Given the description of an element on the screen output the (x, y) to click on. 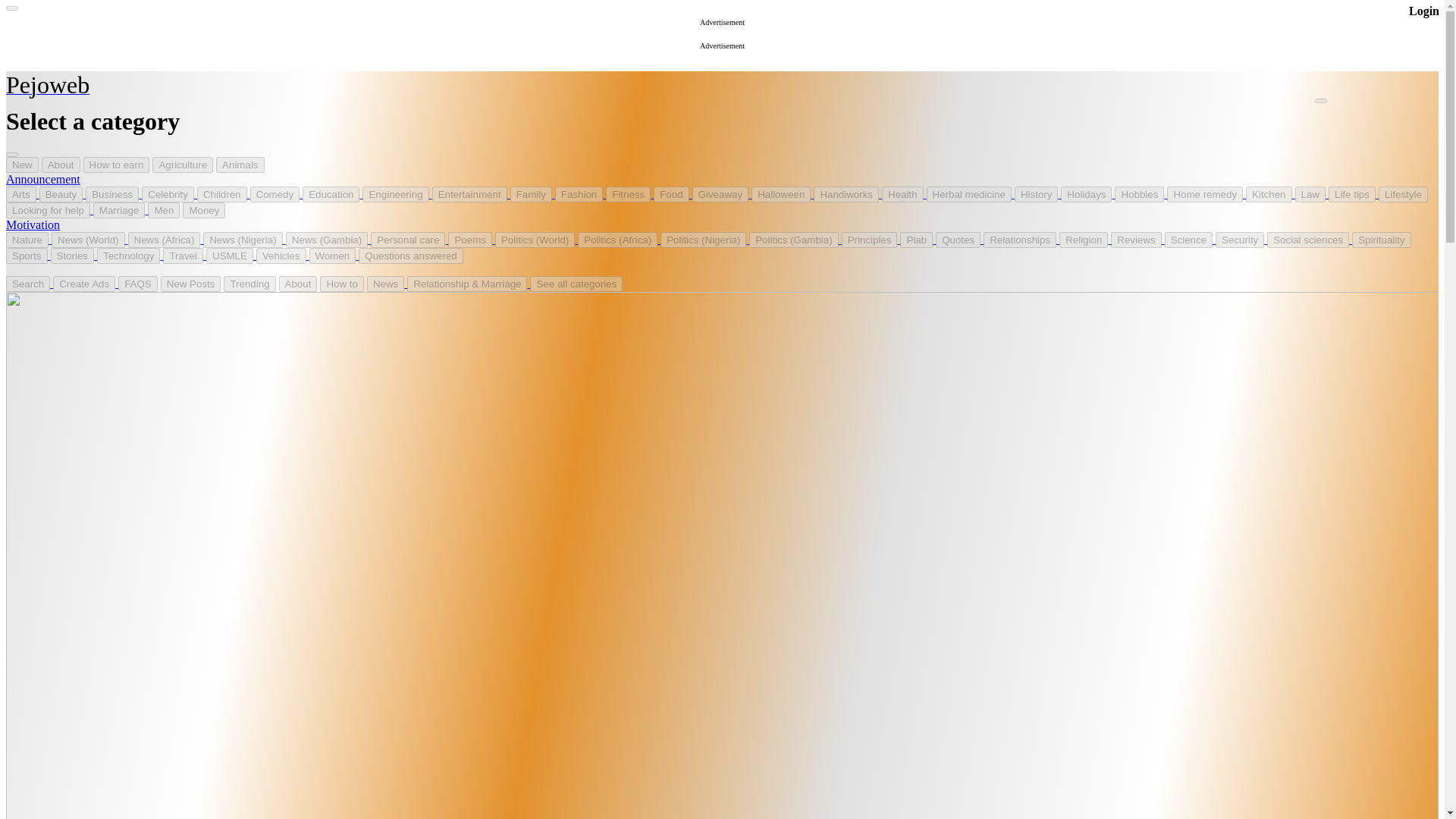
Family (531, 194)
Comedy (274, 194)
Engineering (396, 193)
Comedy (276, 193)
How to earn (115, 164)
Business (111, 194)
Animals (239, 164)
Fitness (627, 194)
Children (721, 38)
